Given the description of an element on the screen output the (x, y) to click on. 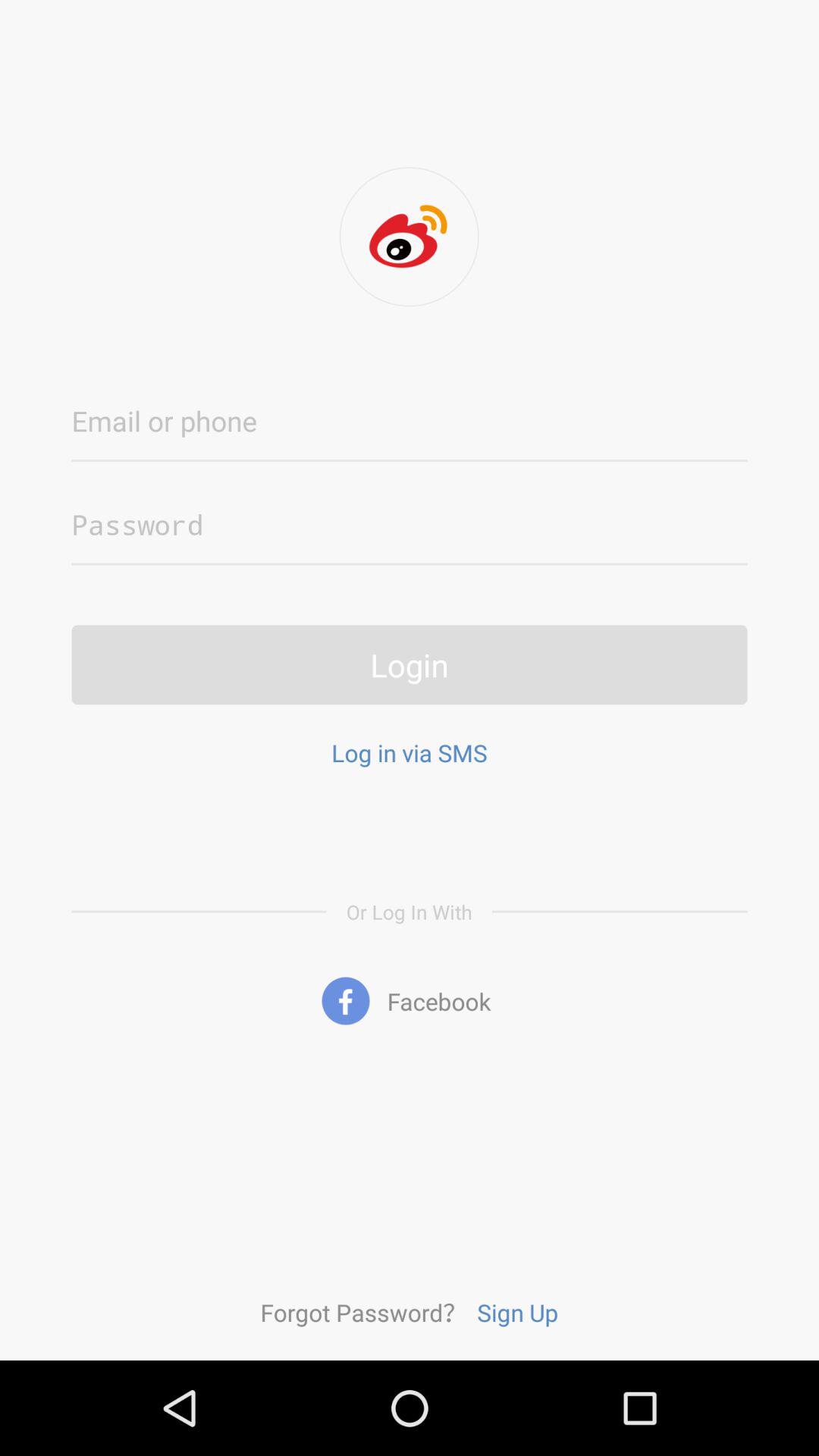
select item next to the sign up icon (363, 1312)
